Given the description of an element on the screen output the (x, y) to click on. 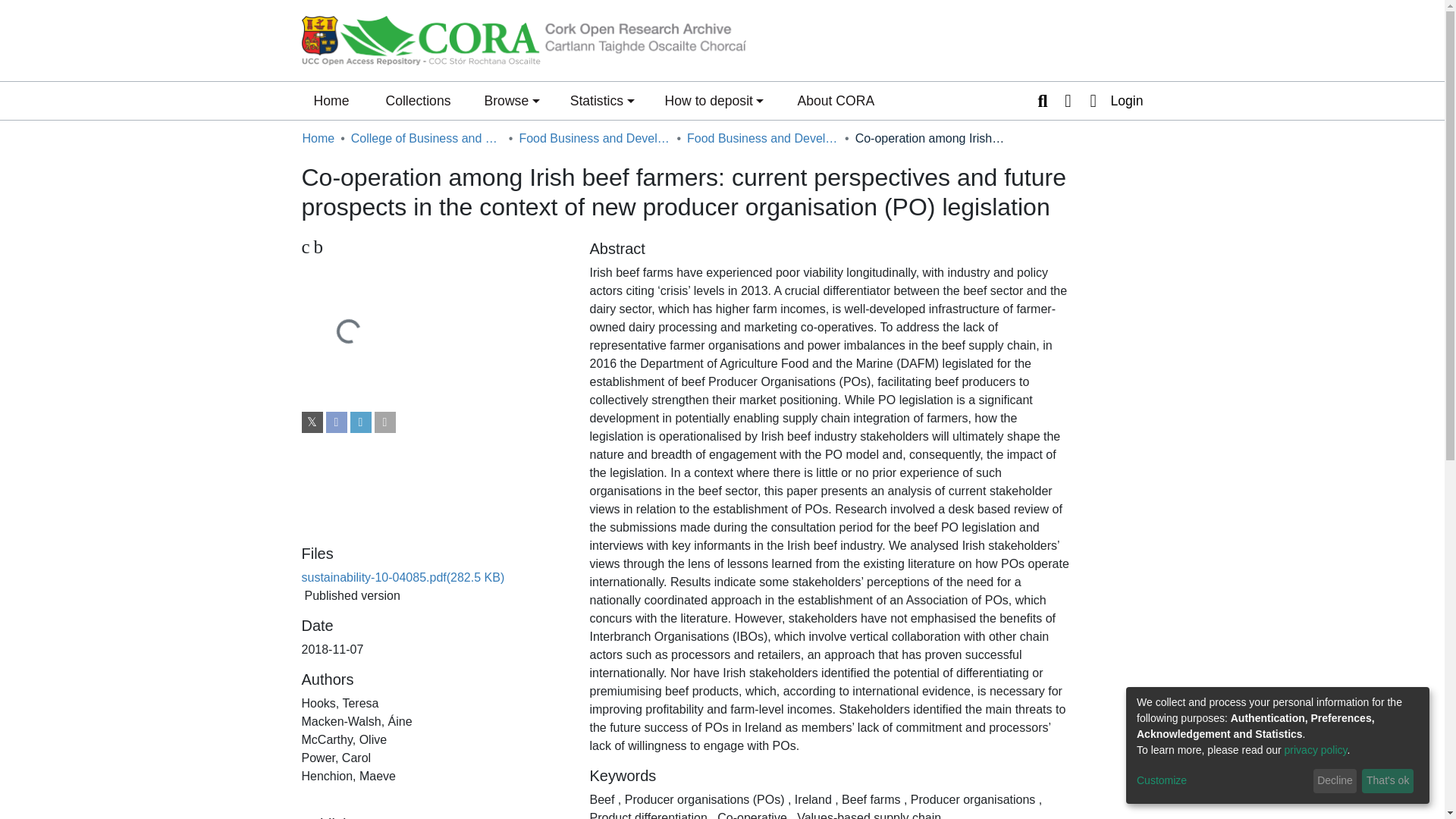
Home (317, 138)
Decline (1334, 781)
Login (1111, 100)
Food Business and Development (593, 138)
Collections (417, 100)
Language switch (1067, 100)
How to deposit (714, 100)
Browse (434, 246)
Collections (510, 100)
privacy policy (417, 100)
Home (1316, 749)
Home (331, 100)
College of Business and Law (331, 100)
Food Business and Development - Journal Articles (426, 138)
